Given the description of an element on the screen output the (x, y) to click on. 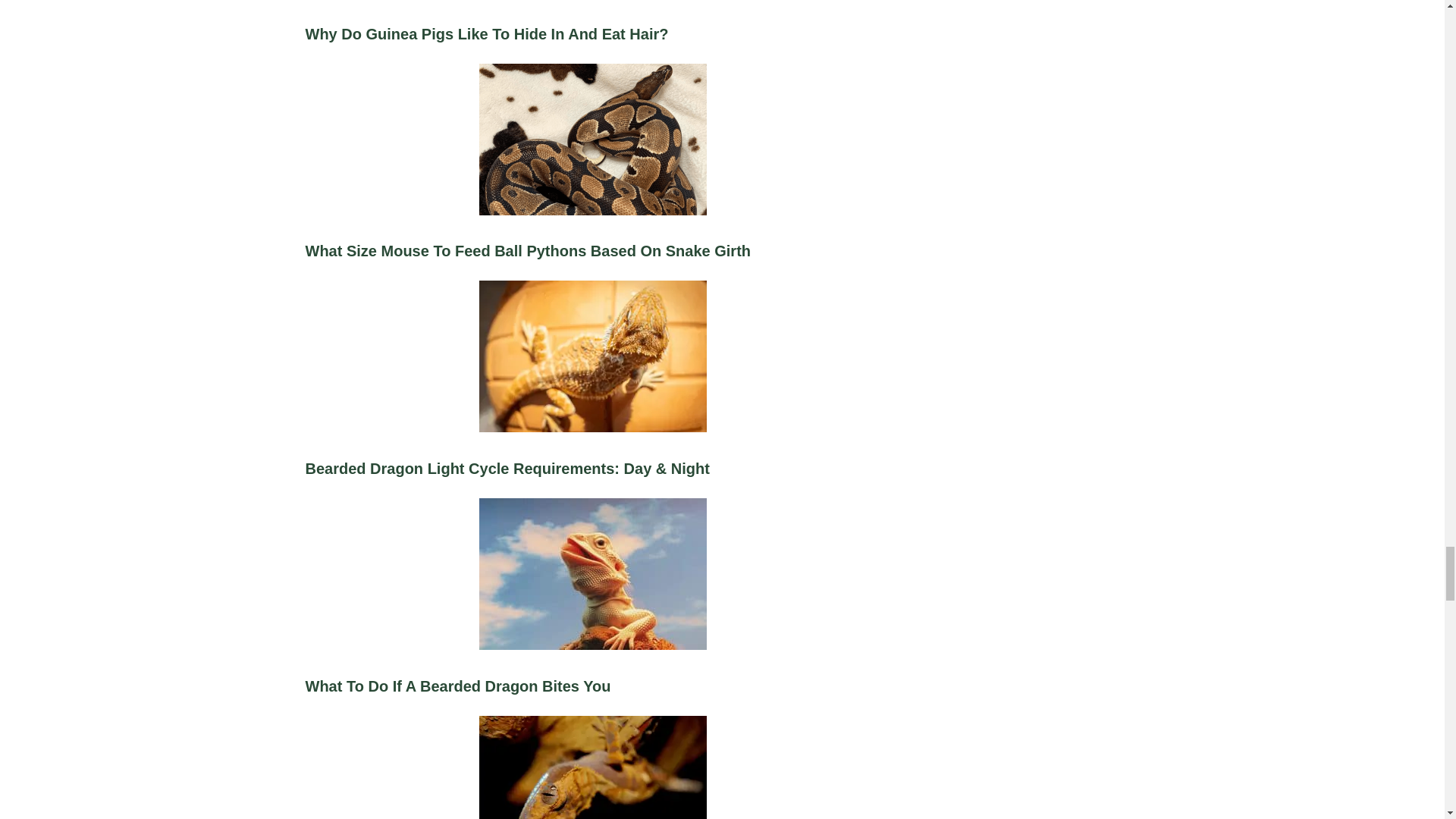
Why Do Guinea Pigs Like To Hide In And Eat Hair? (592, 39)
